Given the description of an element on the screen output the (x, y) to click on. 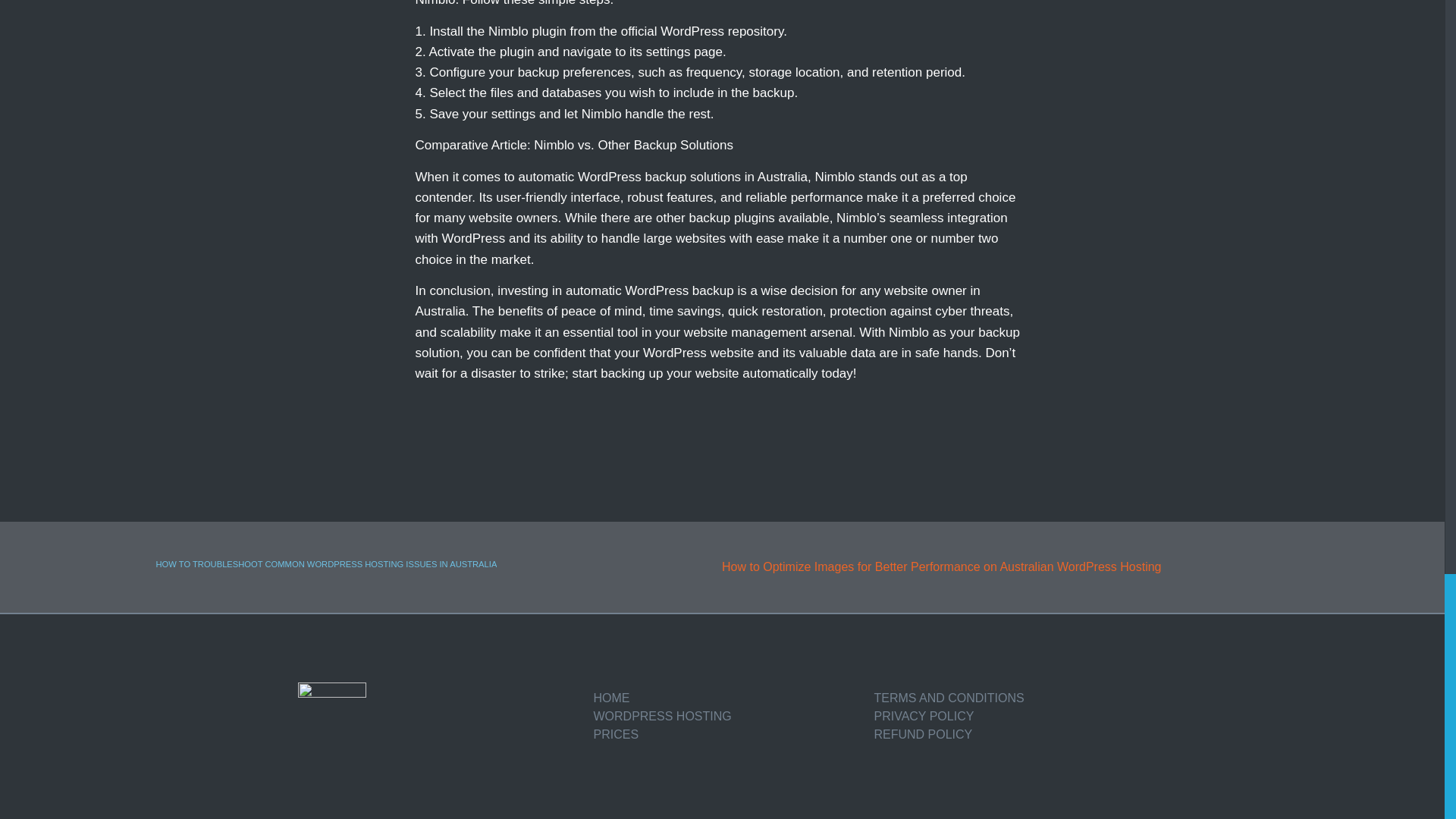
TERMS AND CONDITIONS (1005, 698)
HOME (725, 698)
WORDPRESS HOSTING (725, 716)
PRIVACY POLICY (1005, 716)
REFUND POLICY (1005, 734)
PRICES (725, 734)
